Given the description of an element on the screen output the (x, y) to click on. 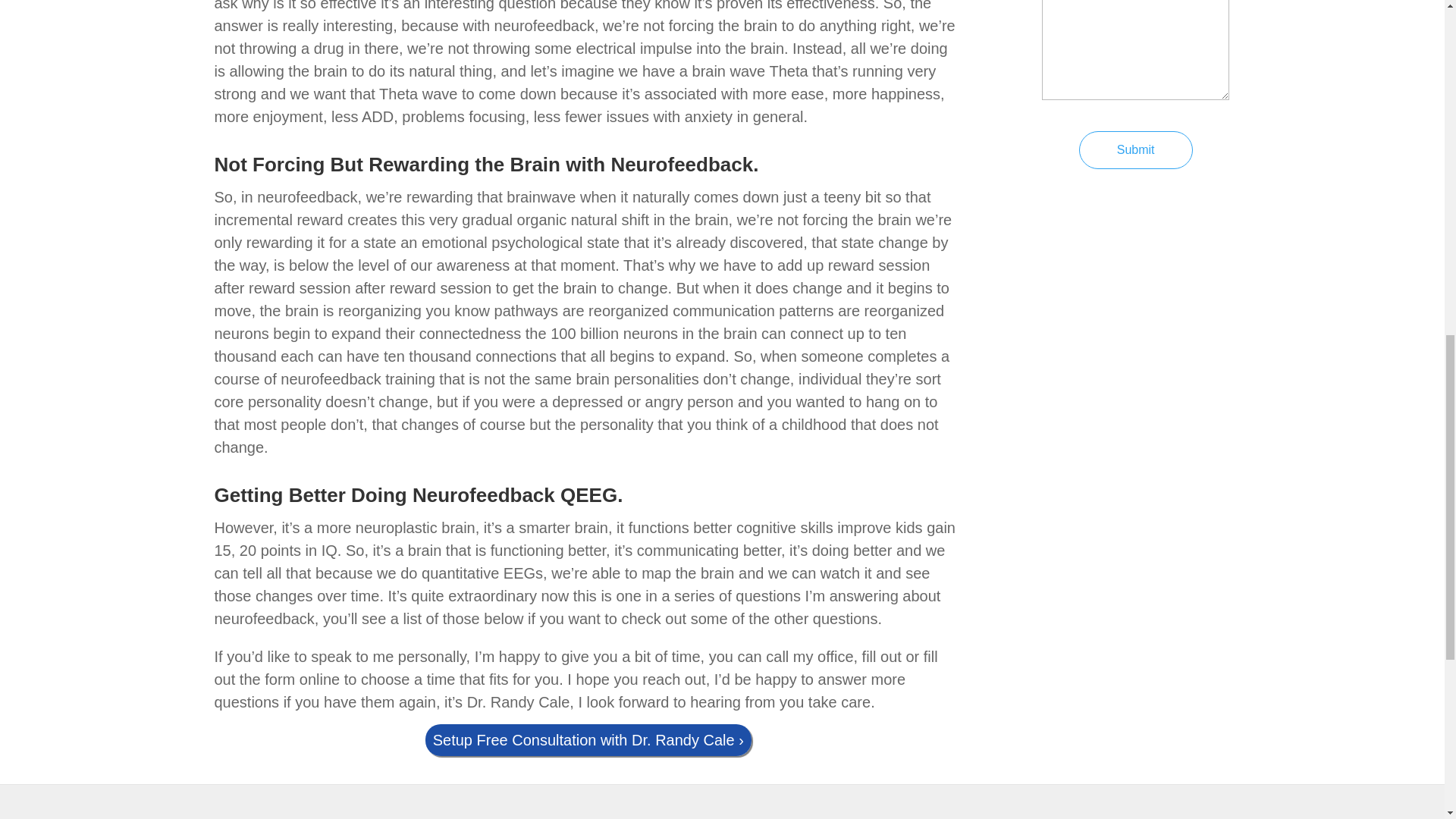
Submit (1135, 149)
